Given the description of an element on the screen output the (x, y) to click on. 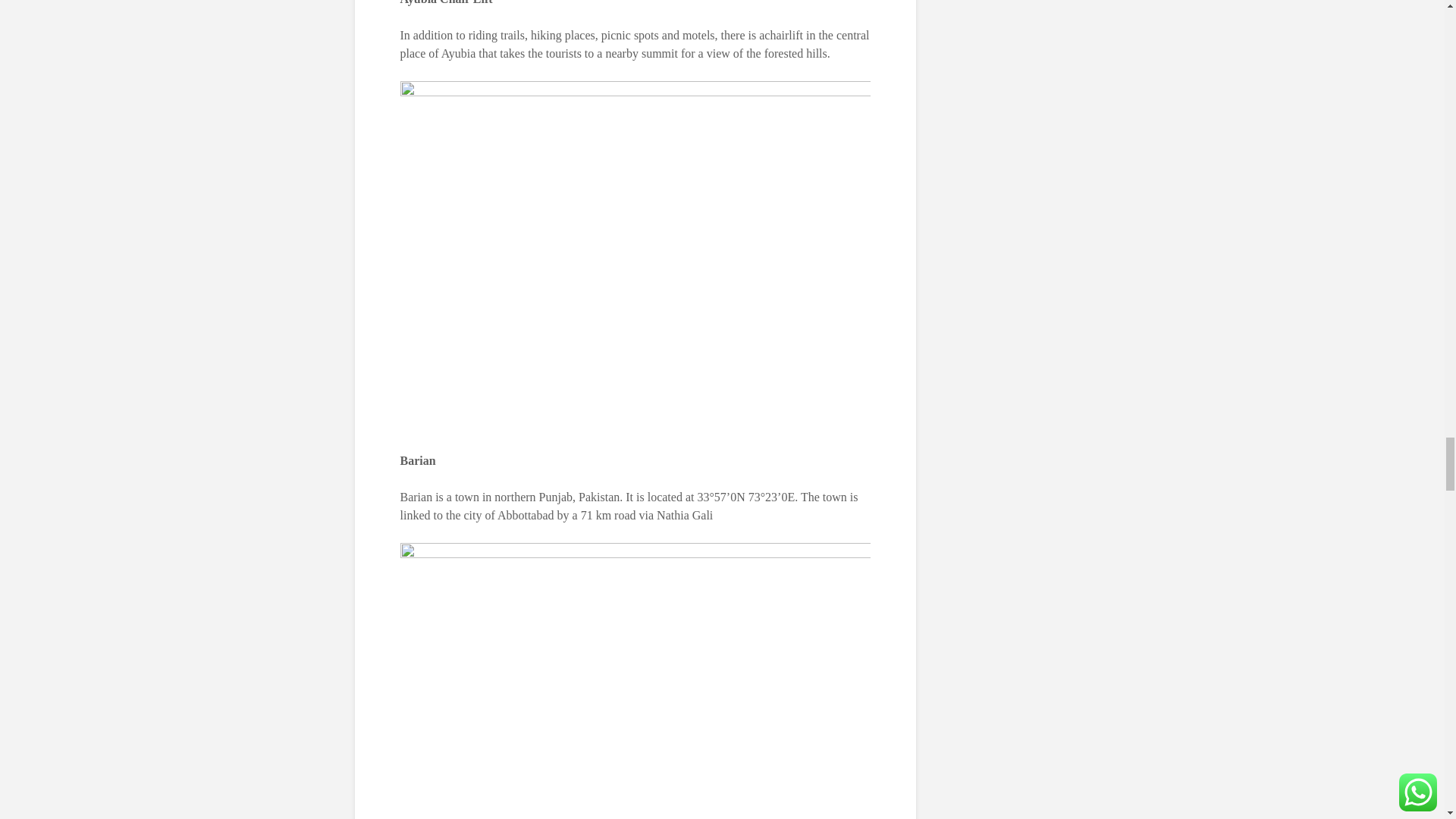
Chattar Park (635, 680)
